Given the description of an element on the screen output the (x, y) to click on. 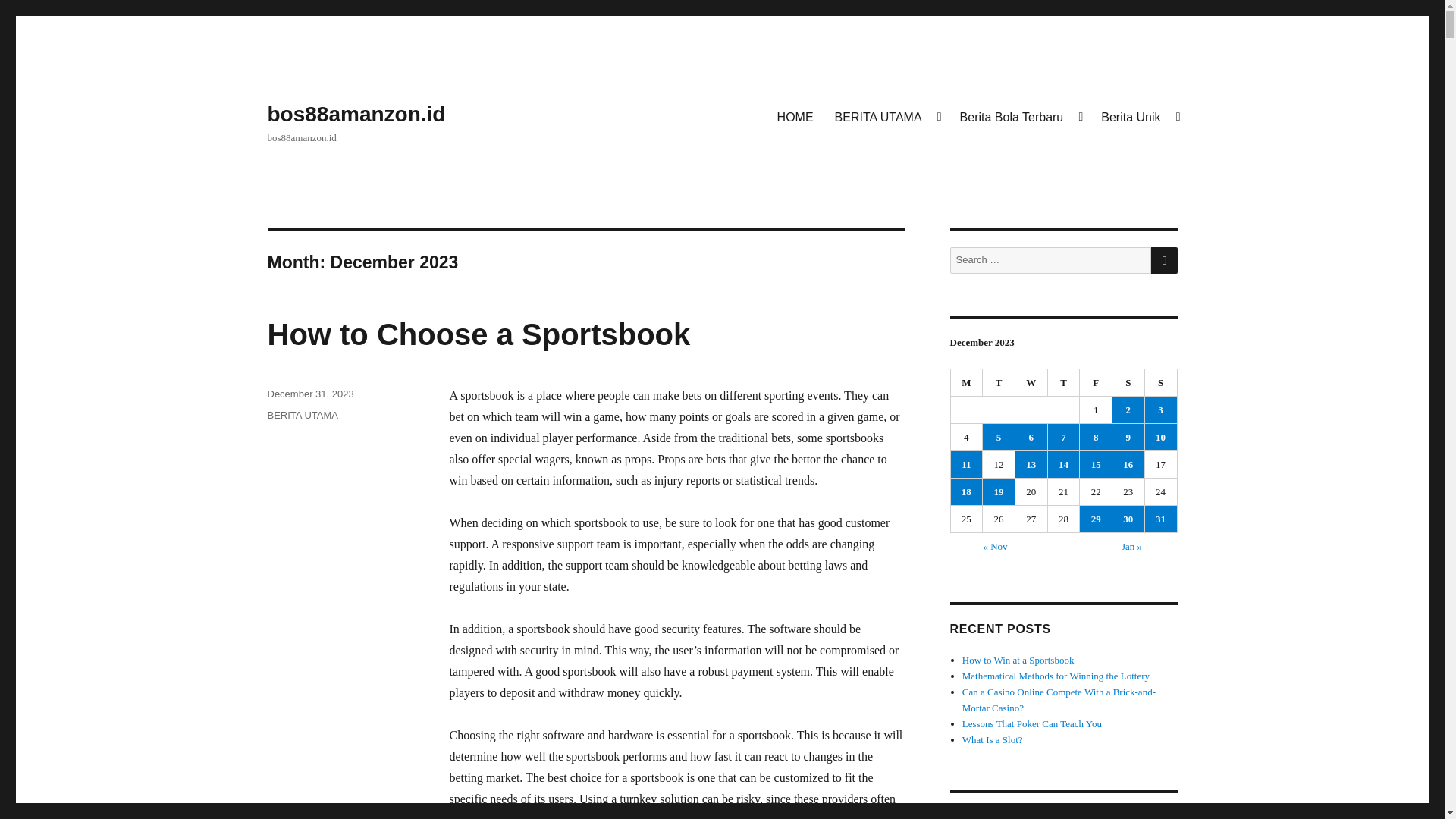
Saturday (1128, 382)
HOME (795, 116)
December 31, 2023 (309, 393)
Thursday (1064, 382)
BERITA UTAMA (301, 414)
Sunday (1160, 382)
BERITA UTAMA (886, 116)
Wednesday (1031, 382)
How to Choose a Sportsbook (478, 334)
Berita Unik (1139, 116)
Tuesday (998, 382)
bos88amanzon.id (355, 114)
Monday (967, 382)
Berita Bola Terbaru (1019, 116)
Friday (1096, 382)
